Given the description of an element on the screen output the (x, y) to click on. 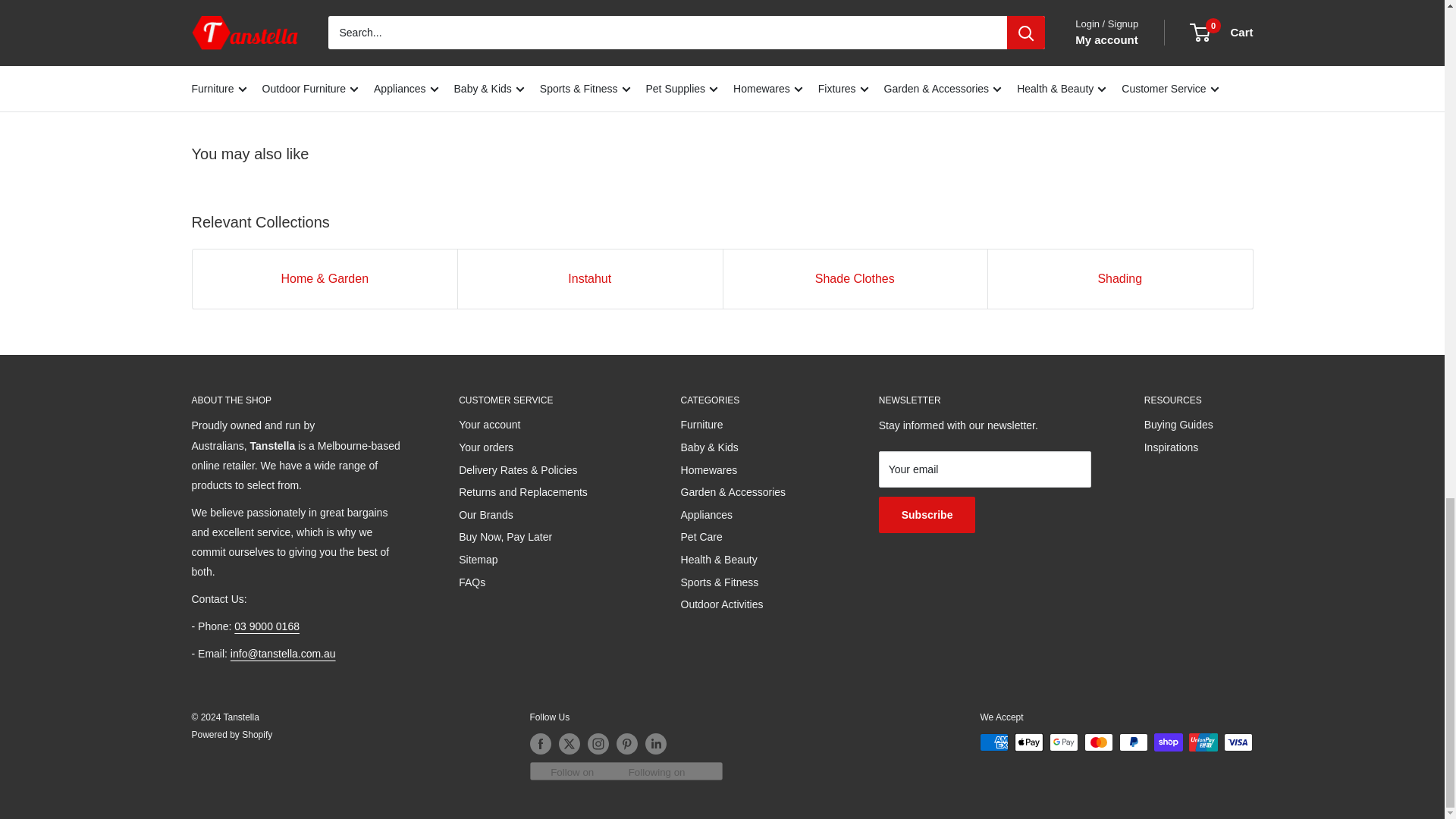
03 9000 0168 (266, 625)
